Given the description of an element on the screen output the (x, y) to click on. 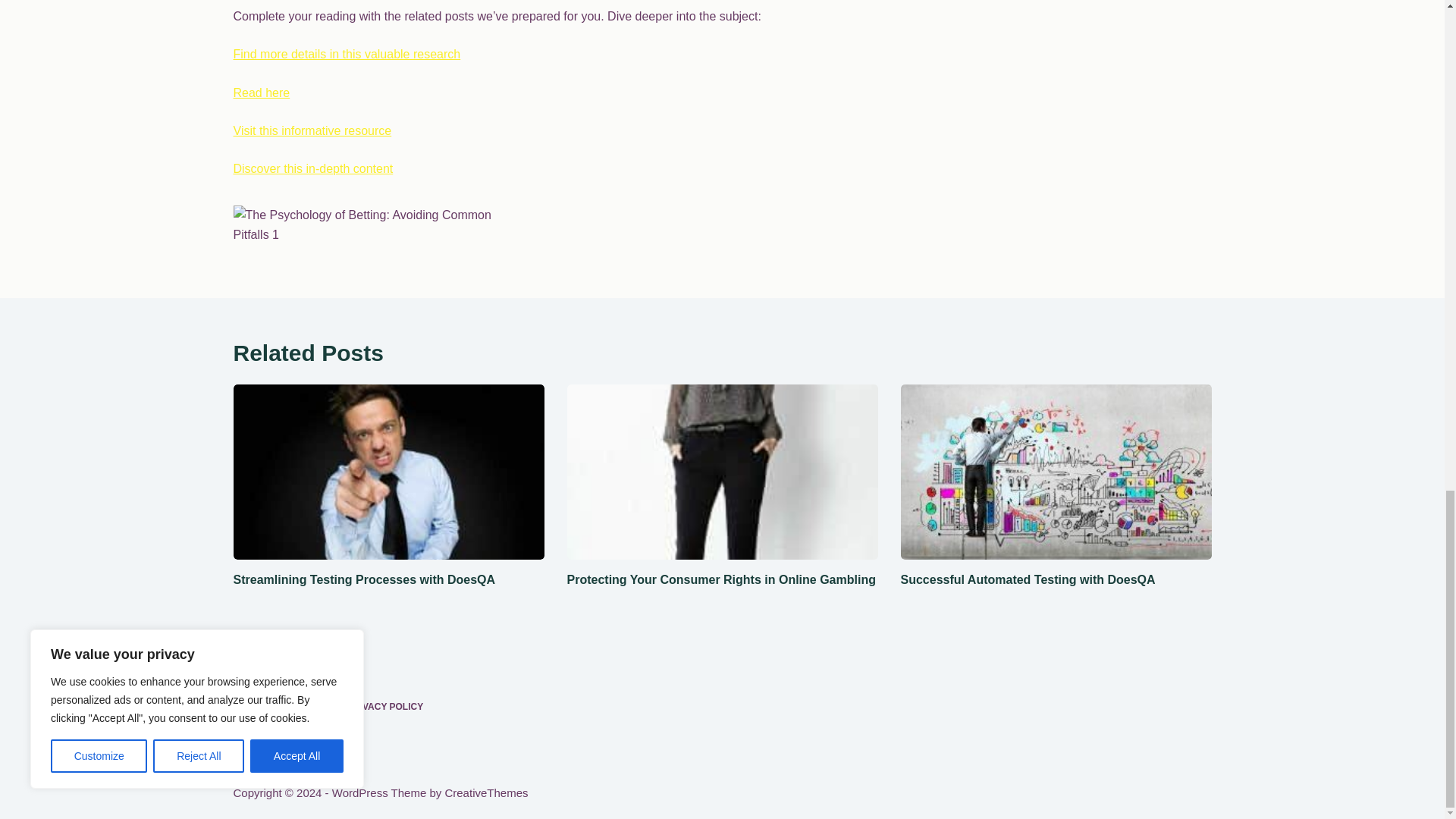
Visit this informative resource (311, 130)
Find more details in this valuable research (346, 53)
Discover this in-depth content (312, 168)
Read here (260, 92)
